Given the description of an element on the screen output the (x, y) to click on. 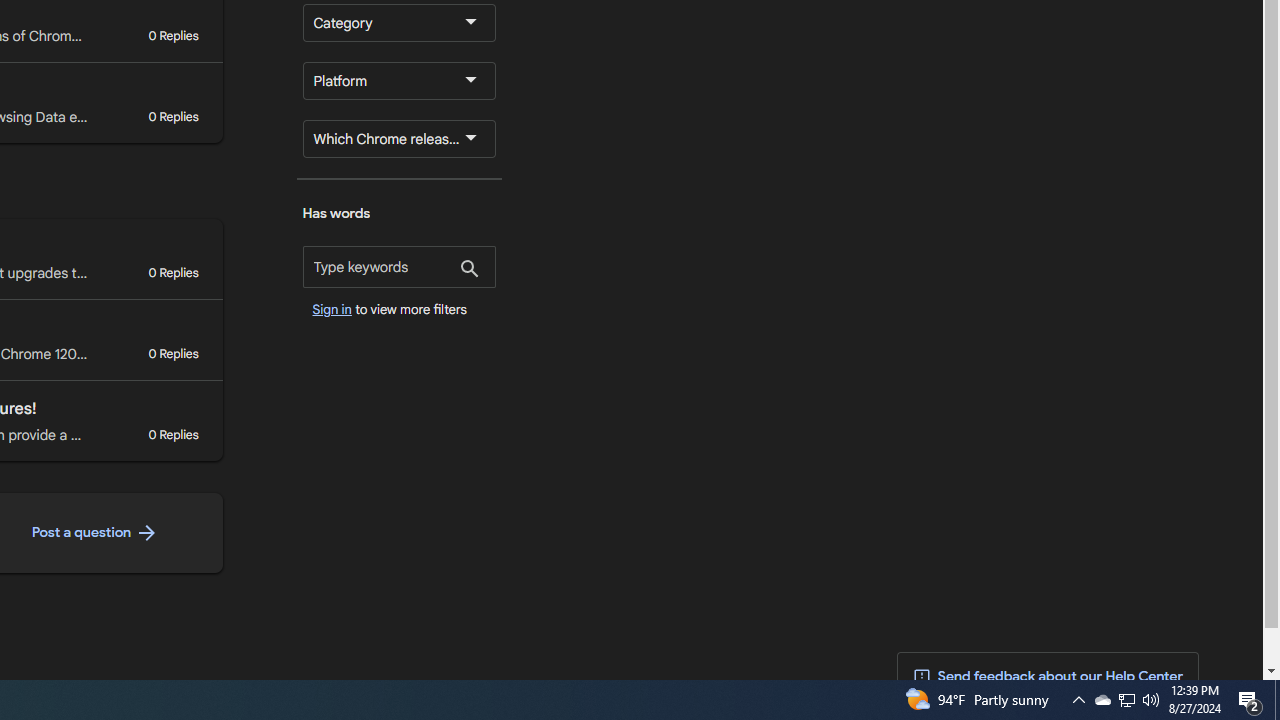
Has words (399, 267)
Category (399, 22)
 Send feedback about our Help Center (1048, 677)
Which Chrome release channel are you using? (399, 138)
Platform (399, 80)
 Apply filter  (469, 269)
Post a question  (94, 533)
